Given the description of an element on the screen output the (x, y) to click on. 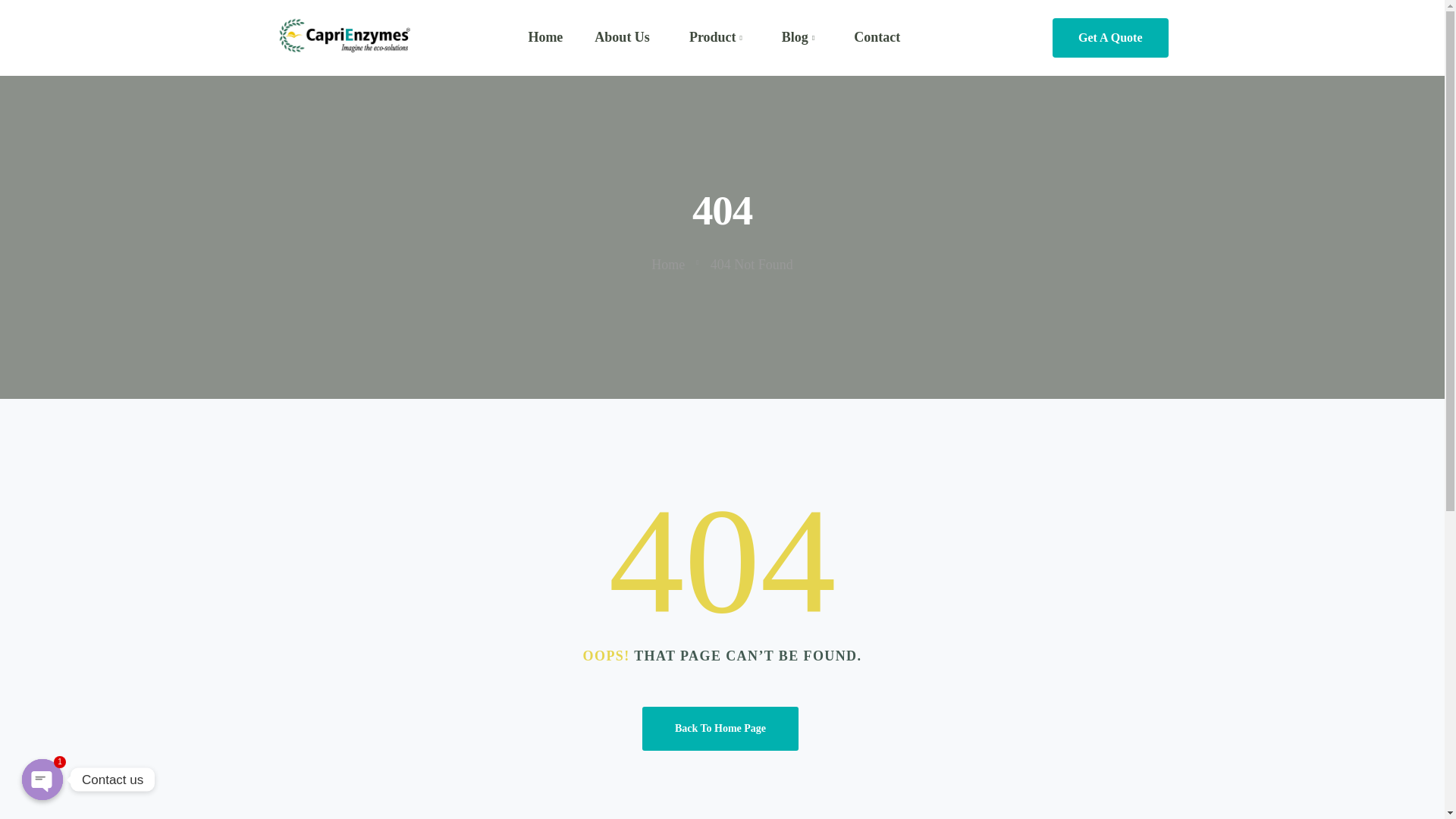
Contact (876, 37)
Product (715, 37)
Caprienzymes (344, 37)
About Us (622, 37)
Blog (798, 37)
